Given the description of an element on the screen output the (x, y) to click on. 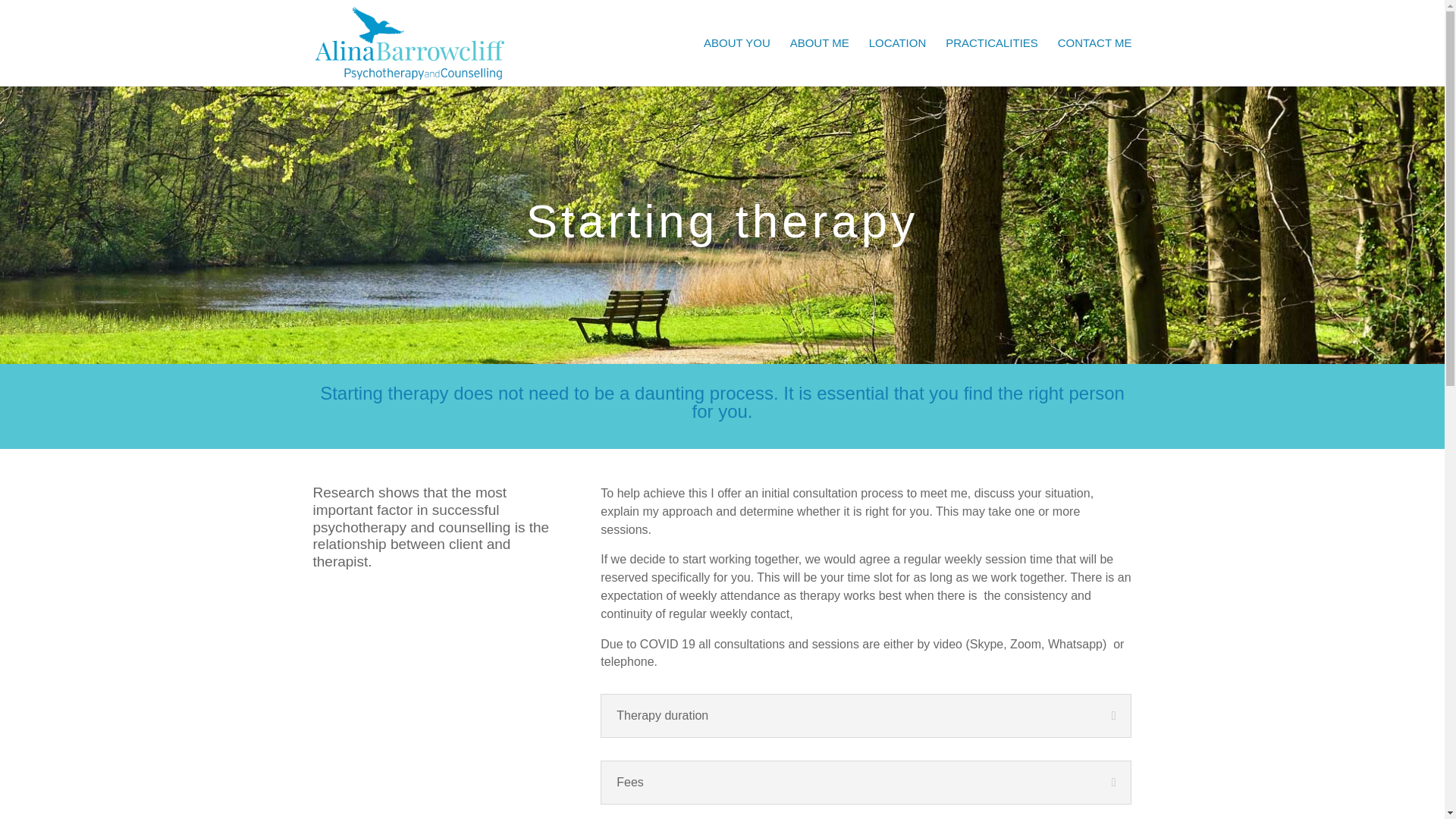
CONTACT ME (1095, 61)
ABOUT YOU (736, 61)
LOCATION (897, 61)
PRACTICALITIES (991, 61)
ABOUT ME (819, 61)
